Given the description of an element on the screen output the (x, y) to click on. 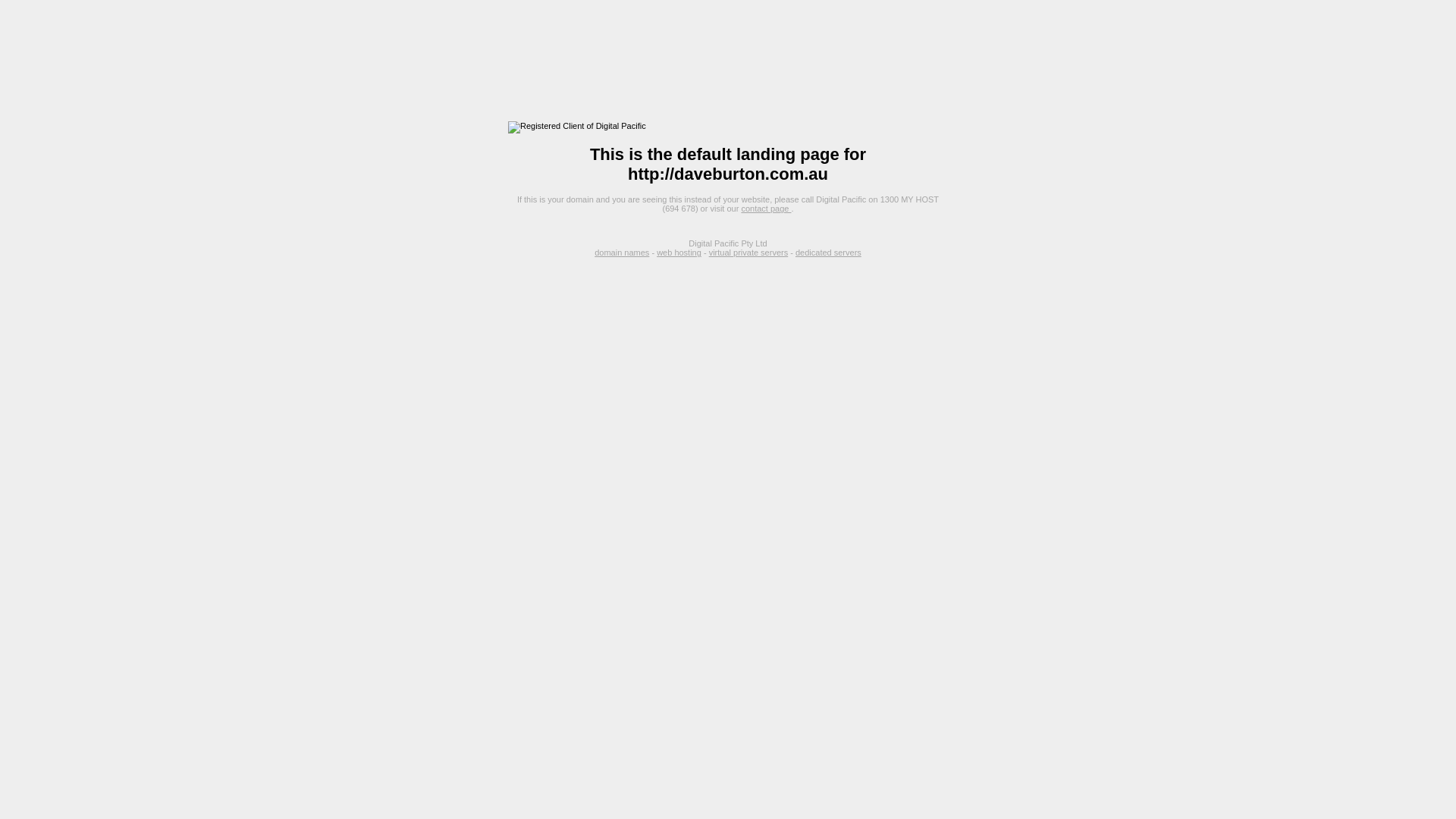
contact page Element type: text (765, 208)
domain names Element type: text (621, 252)
web hosting Element type: text (678, 252)
dedicated servers Element type: text (828, 252)
virtual private servers Element type: text (748, 252)
